Given the description of an element on the screen output the (x, y) to click on. 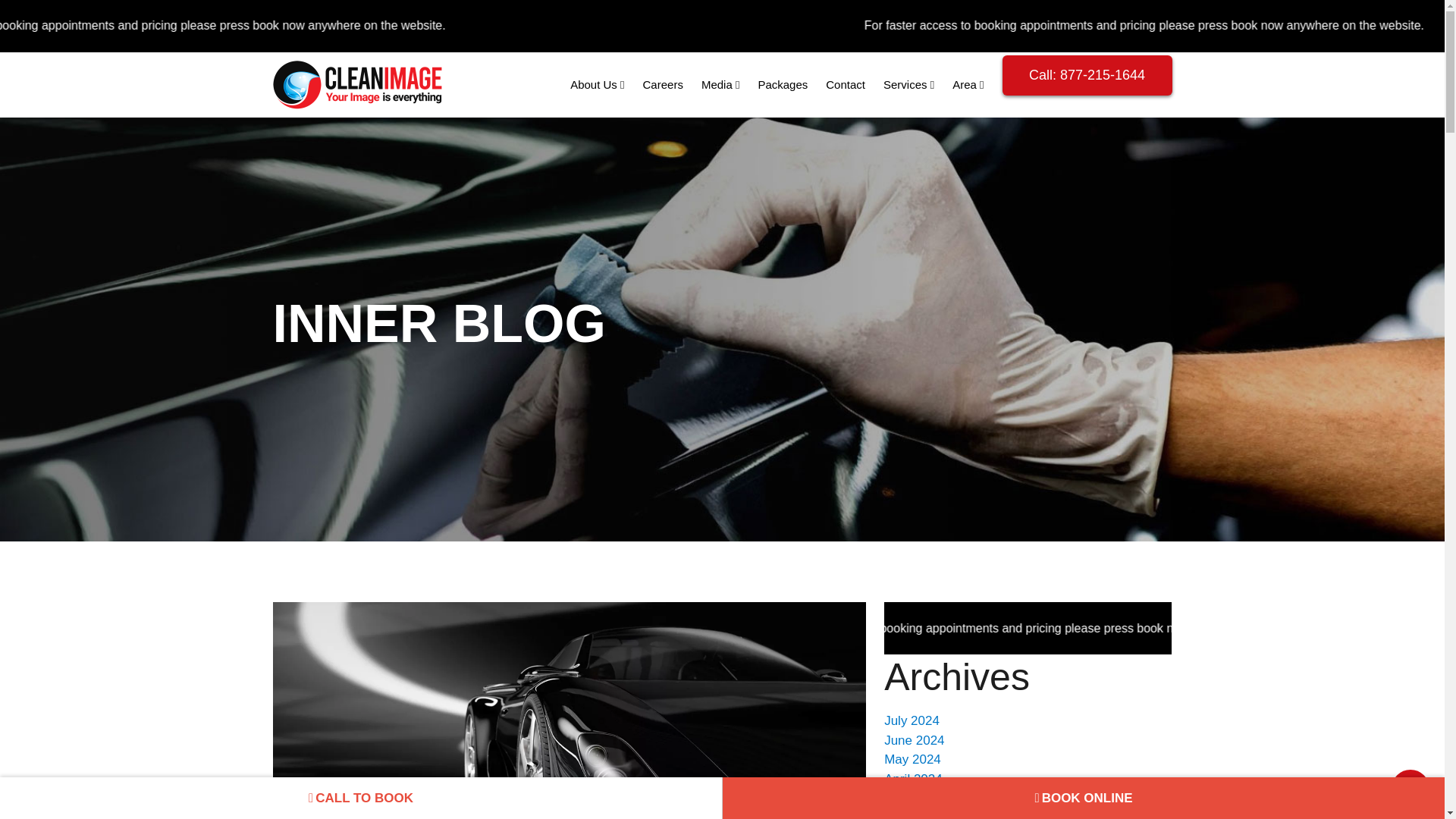
Services (909, 84)
About Us (596, 84)
About Us (596, 84)
Packages (782, 84)
